Given the description of an element on the screen output the (x, y) to click on. 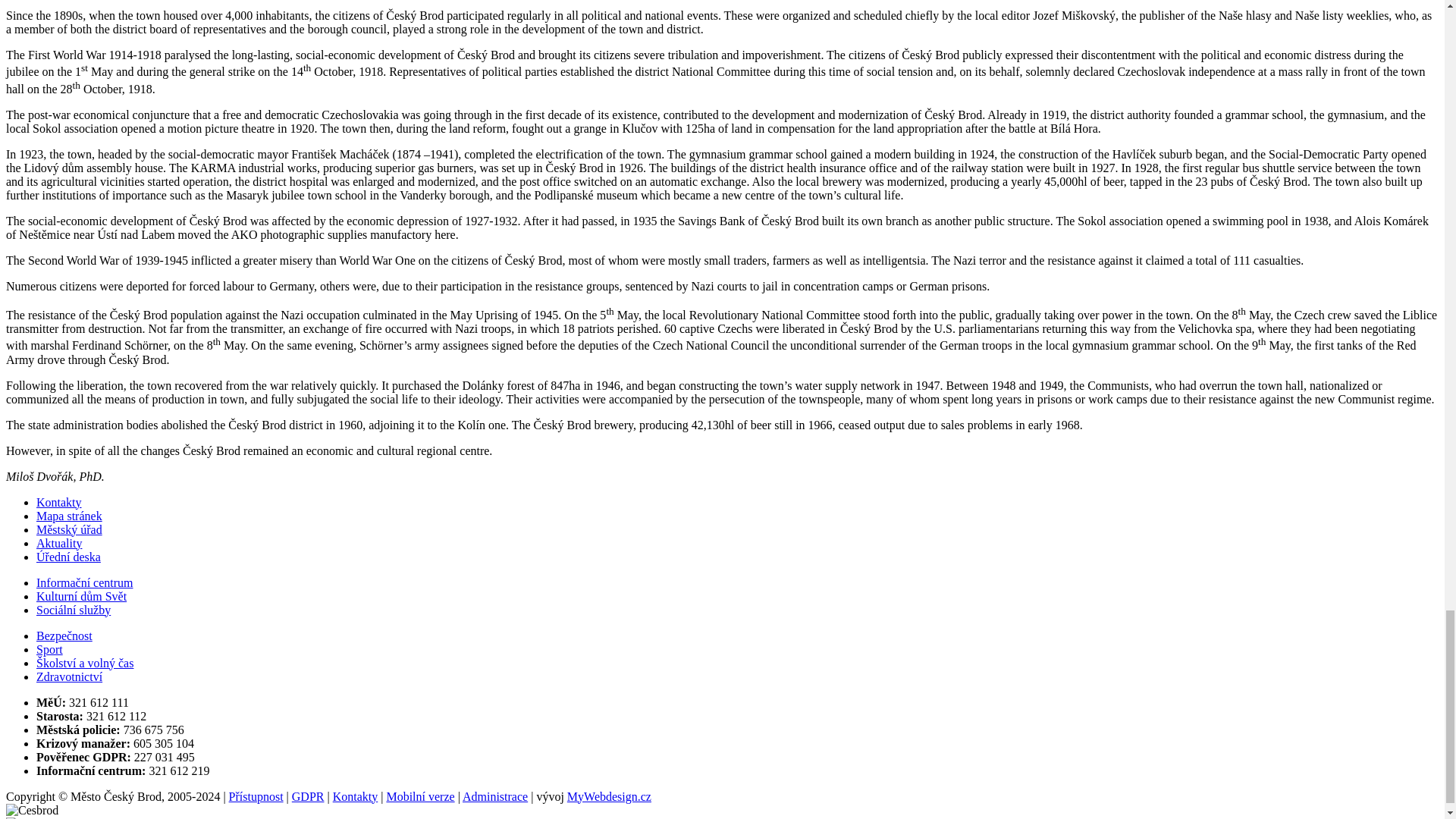
Kontakty (58, 502)
